Given the description of an element on the screen output the (x, y) to click on. 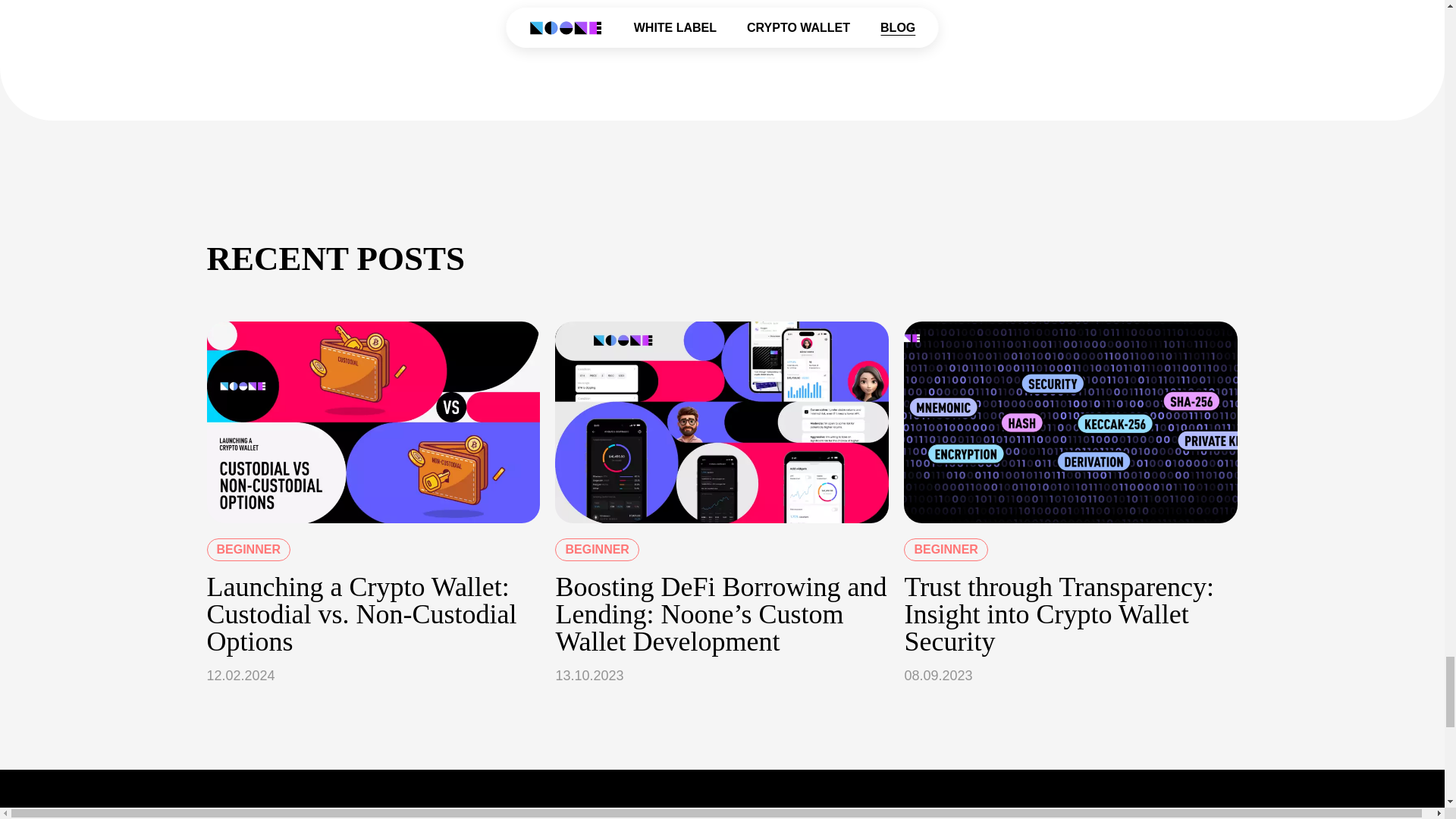
BEGINNER (945, 549)
BEGINNER (247, 549)
BEGINNER (596, 549)
